Given the description of an element on the screen output the (x, y) to click on. 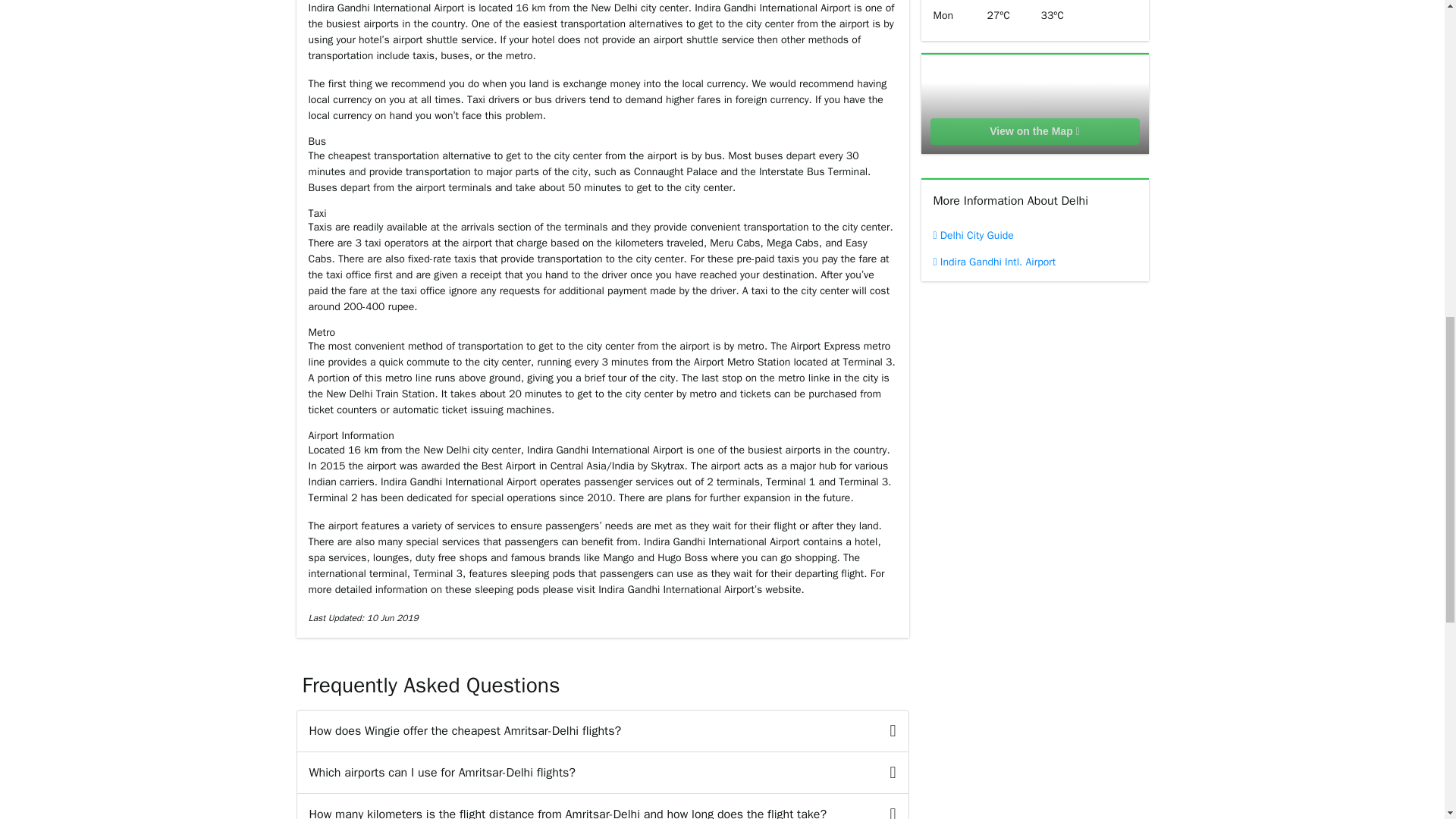
Delhi City Guide (1034, 234)
Indira Gandhi Intl. Airport (1034, 261)
